Given the description of an element on the screen output the (x, y) to click on. 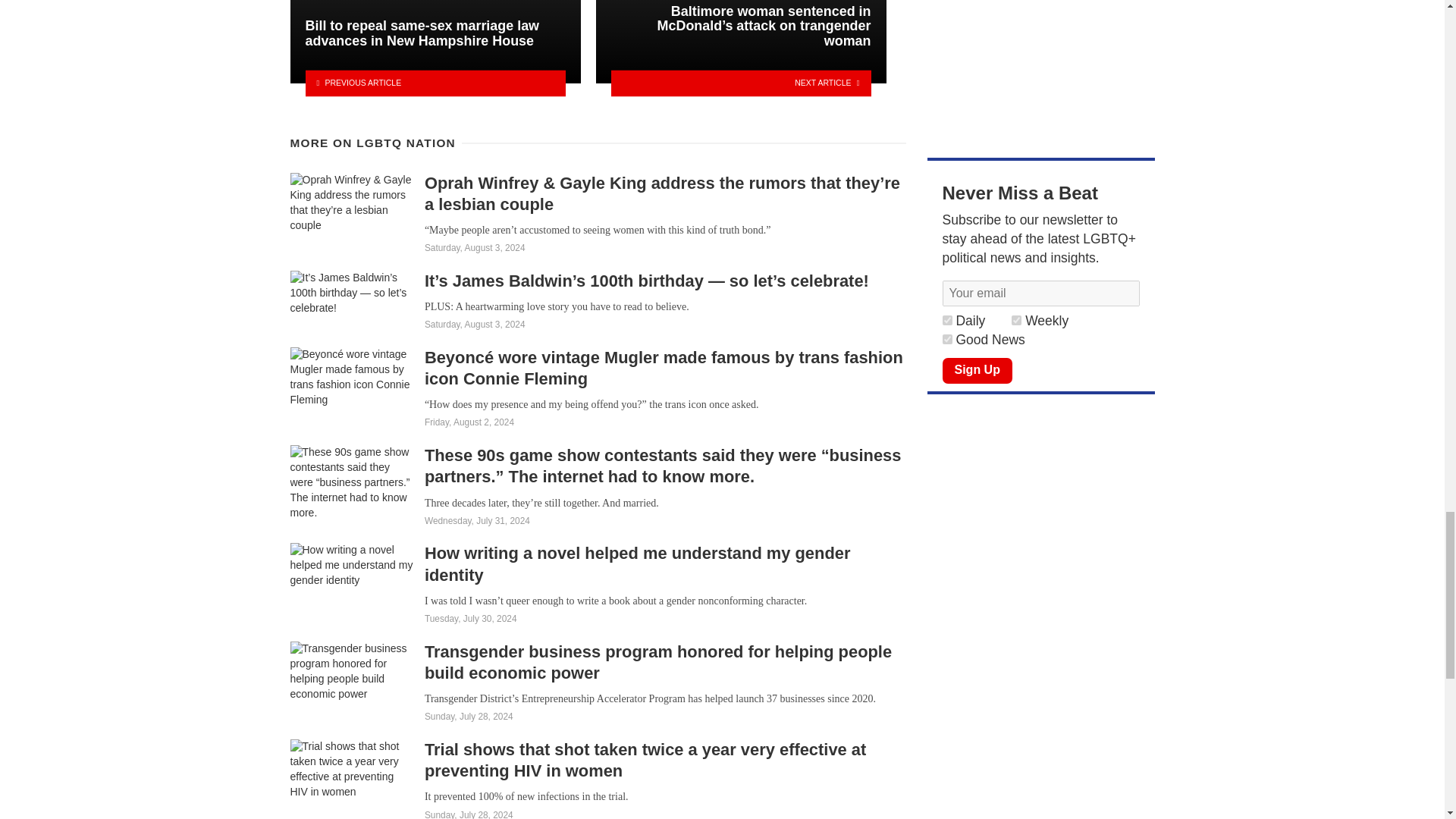
1920883 (947, 338)
Sign Up (976, 370)
1920885 (947, 320)
1920884 (1016, 320)
